Given the description of an element on the screen output the (x, y) to click on. 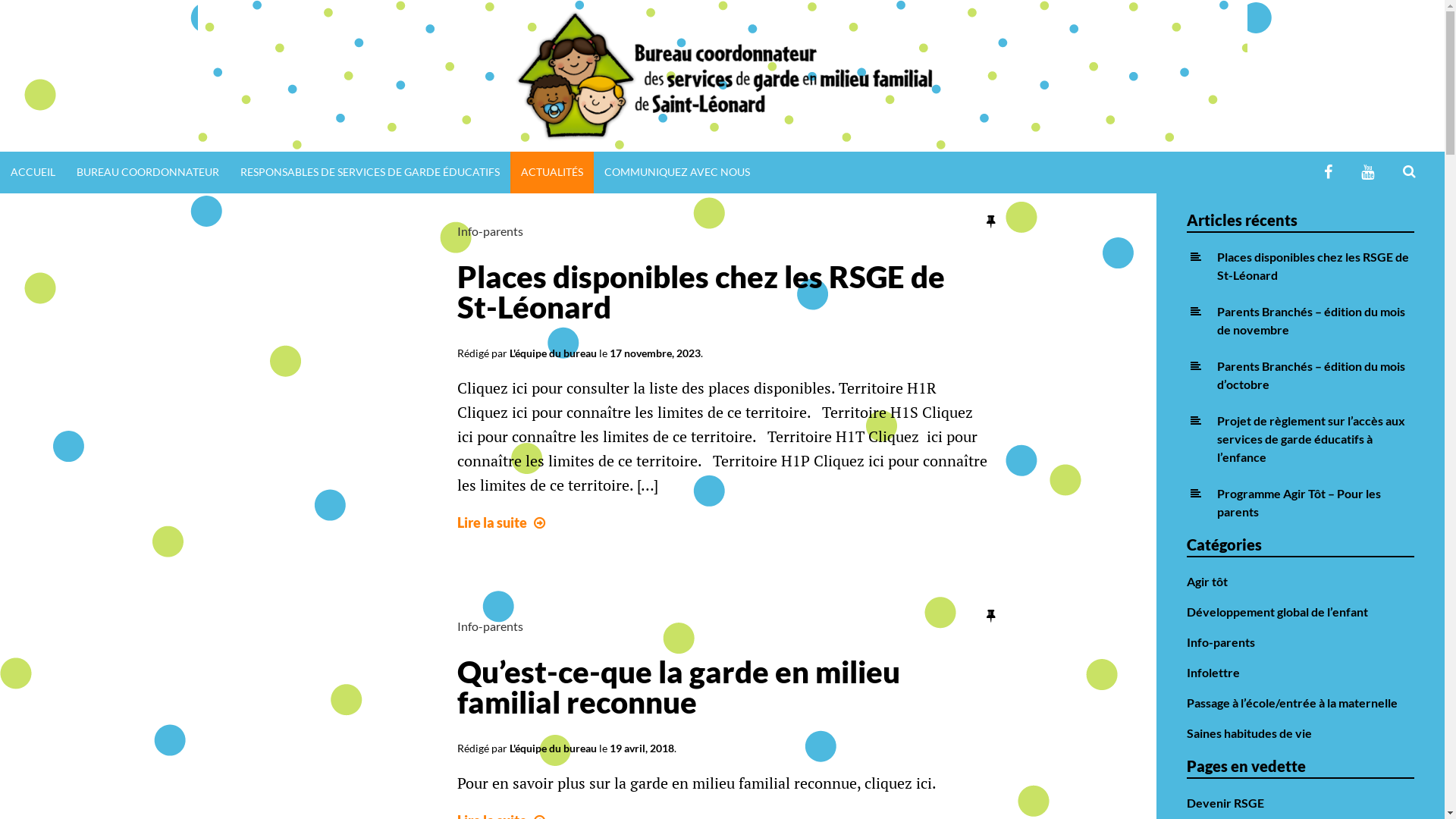
RECHERCHER Element type: text (1433, 164)
ACCUEIL Element type: text (32, 172)
Info-parents Element type: text (489, 230)
COMMUNIQUEZ AVEC NOUS Element type: text (676, 172)
BUREAU COORDONNATEUR Element type: text (147, 172)
YOUTUBE Element type: text (1367, 172)
Info-parents Element type: text (489, 625)
Saines habitudes de vie Element type: text (1248, 732)
Infolettre Element type: text (1212, 672)
Passer directement au contenu Element type: text (0, 0)
Info-parents Element type: text (1220, 641)
19 avril, 2018 Element type: text (641, 747)
FACEBOOK BC ST-LEONARD Element type: text (1327, 172)
17 novembre, 2023 Element type: text (654, 352)
